Given the description of an element on the screen output the (x, y) to click on. 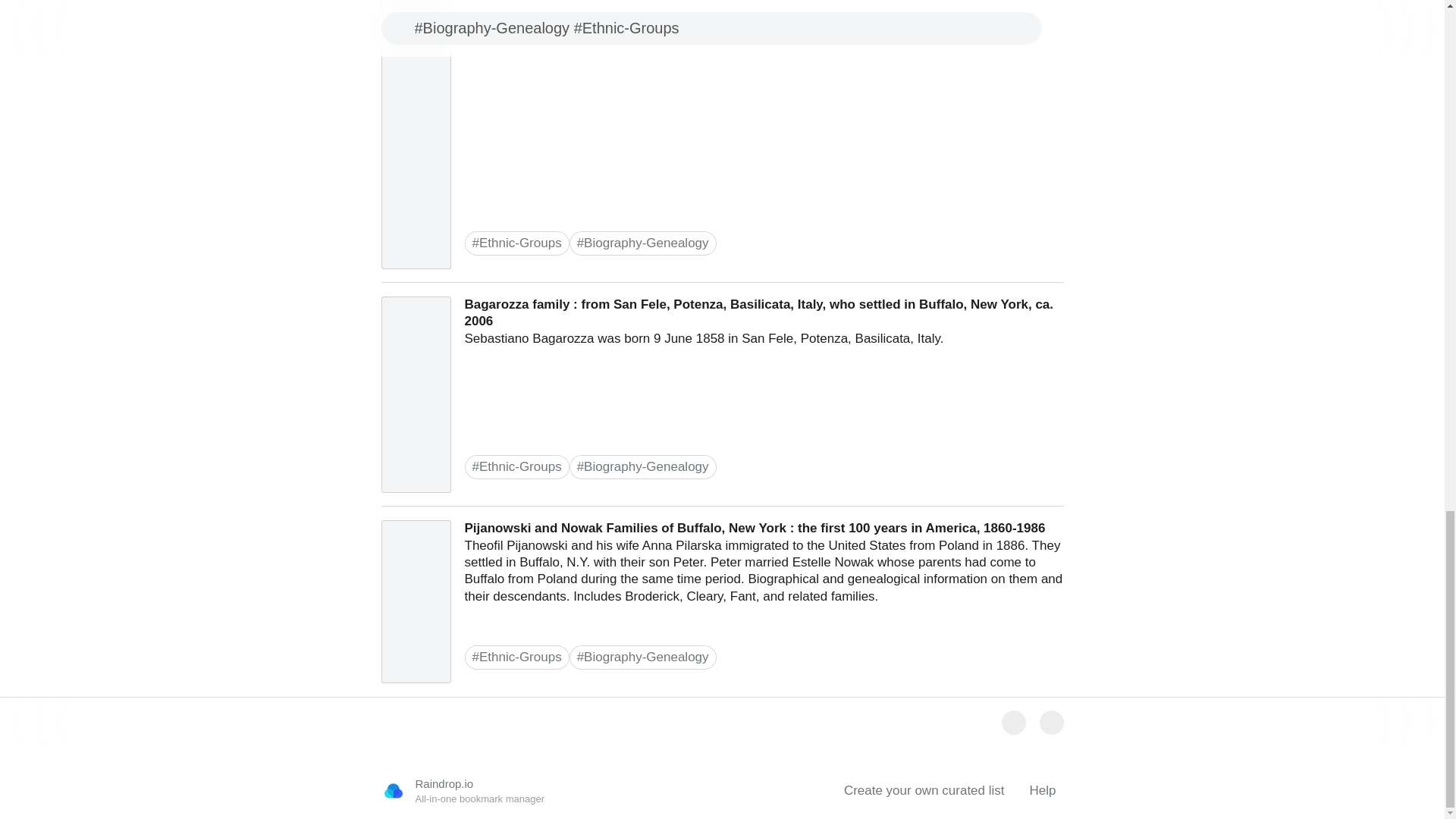
Raindrop.io (392, 790)
Next page (1050, 722)
Previous page (1013, 722)
